Given the description of an element on the screen output the (x, y) to click on. 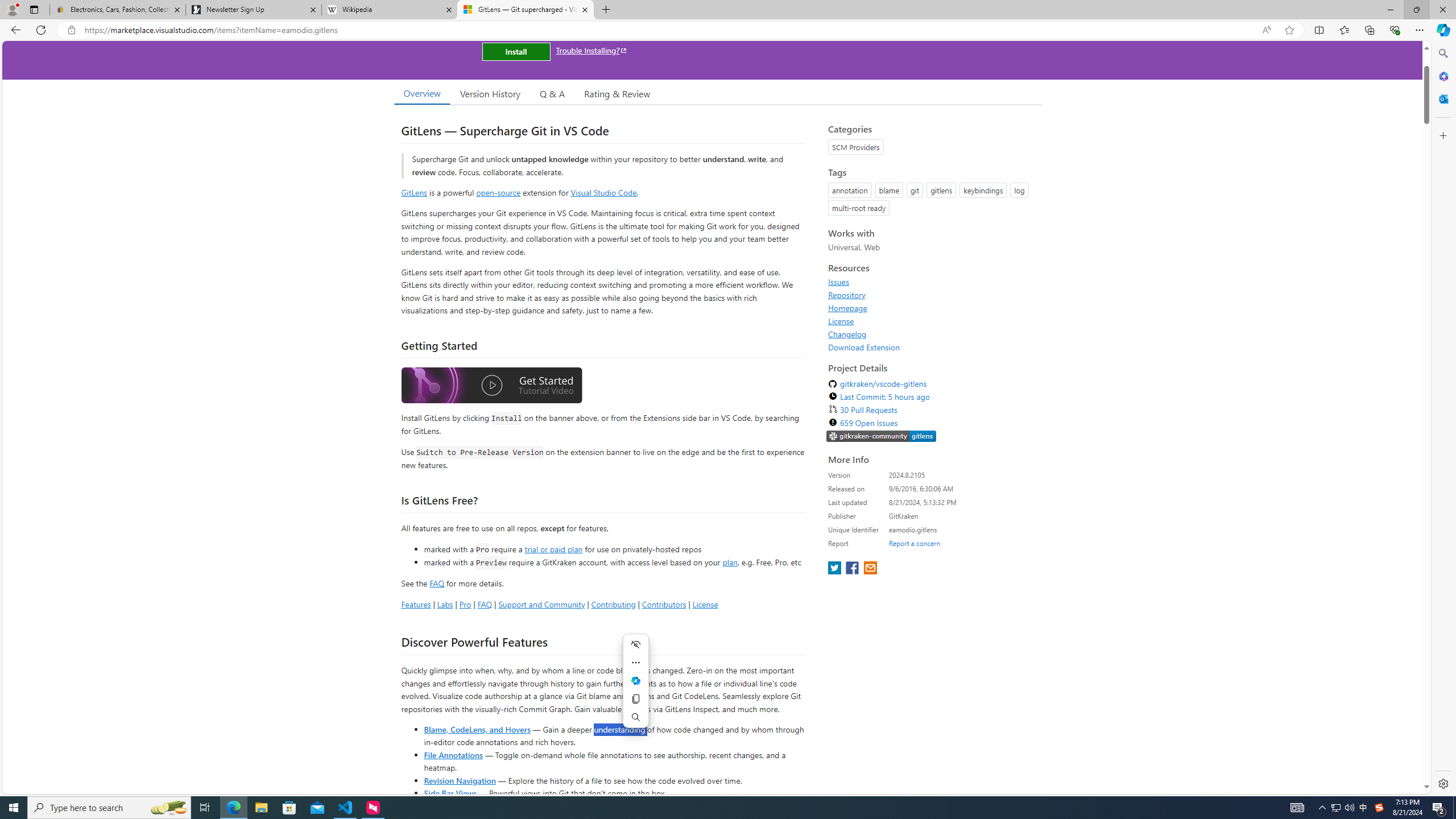
Changelog (847, 333)
Watch the GitLens Getting Started video (491, 385)
FAQ (484, 603)
Download Extension (863, 346)
File Annotations (453, 754)
Features (415, 603)
